Given the description of an element on the screen output the (x, y) to click on. 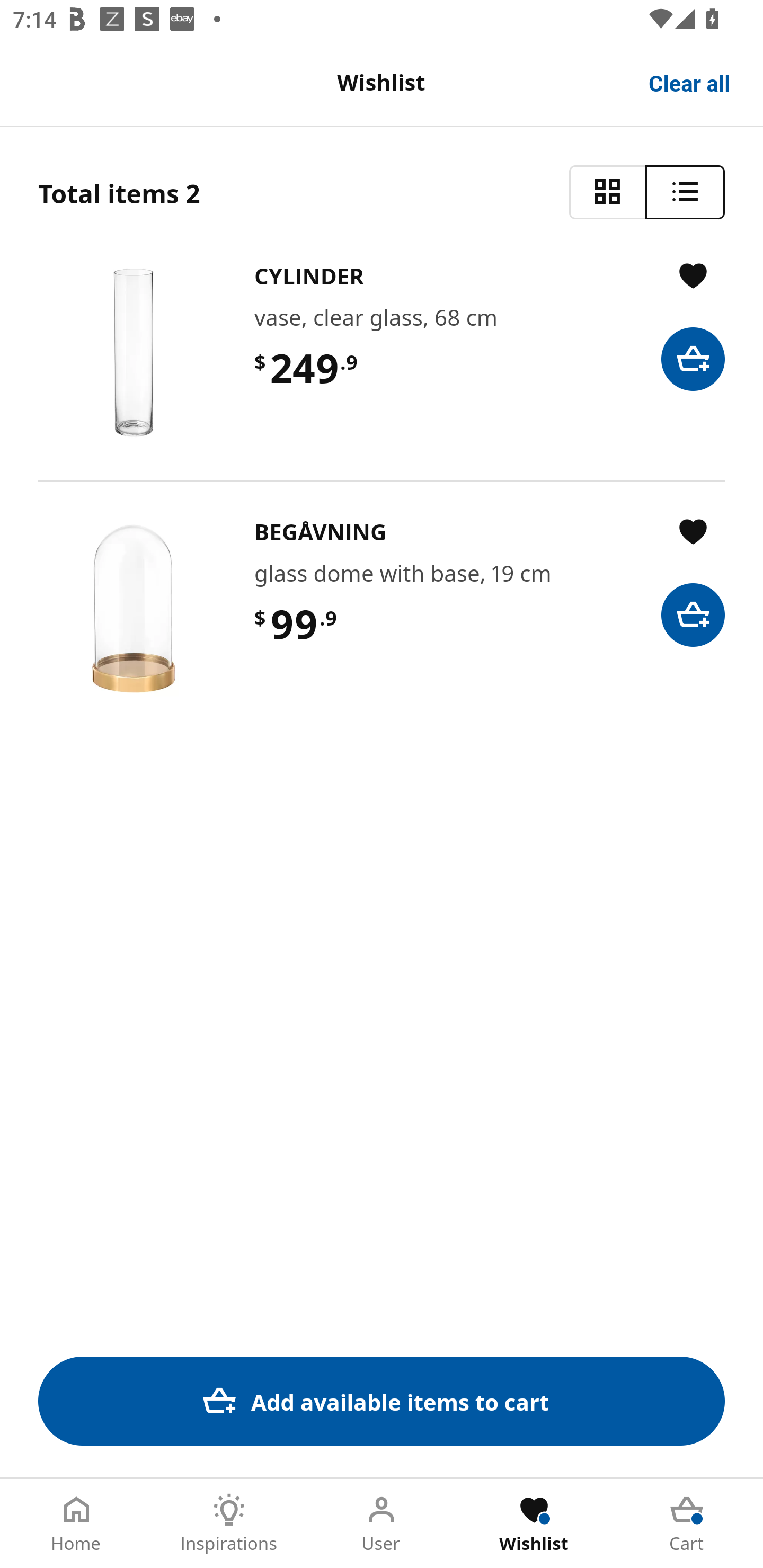
Clear all (689, 81)
Add available items to cart (381, 1400)
Home
Tab 1 of 5 (76, 1522)
Inspirations
Tab 2 of 5 (228, 1522)
User
Tab 3 of 5 (381, 1522)
Wishlist
Tab 4 of 5 (533, 1522)
Cart
Tab 5 of 5 (686, 1522)
